Given the description of an element on the screen output the (x, y) to click on. 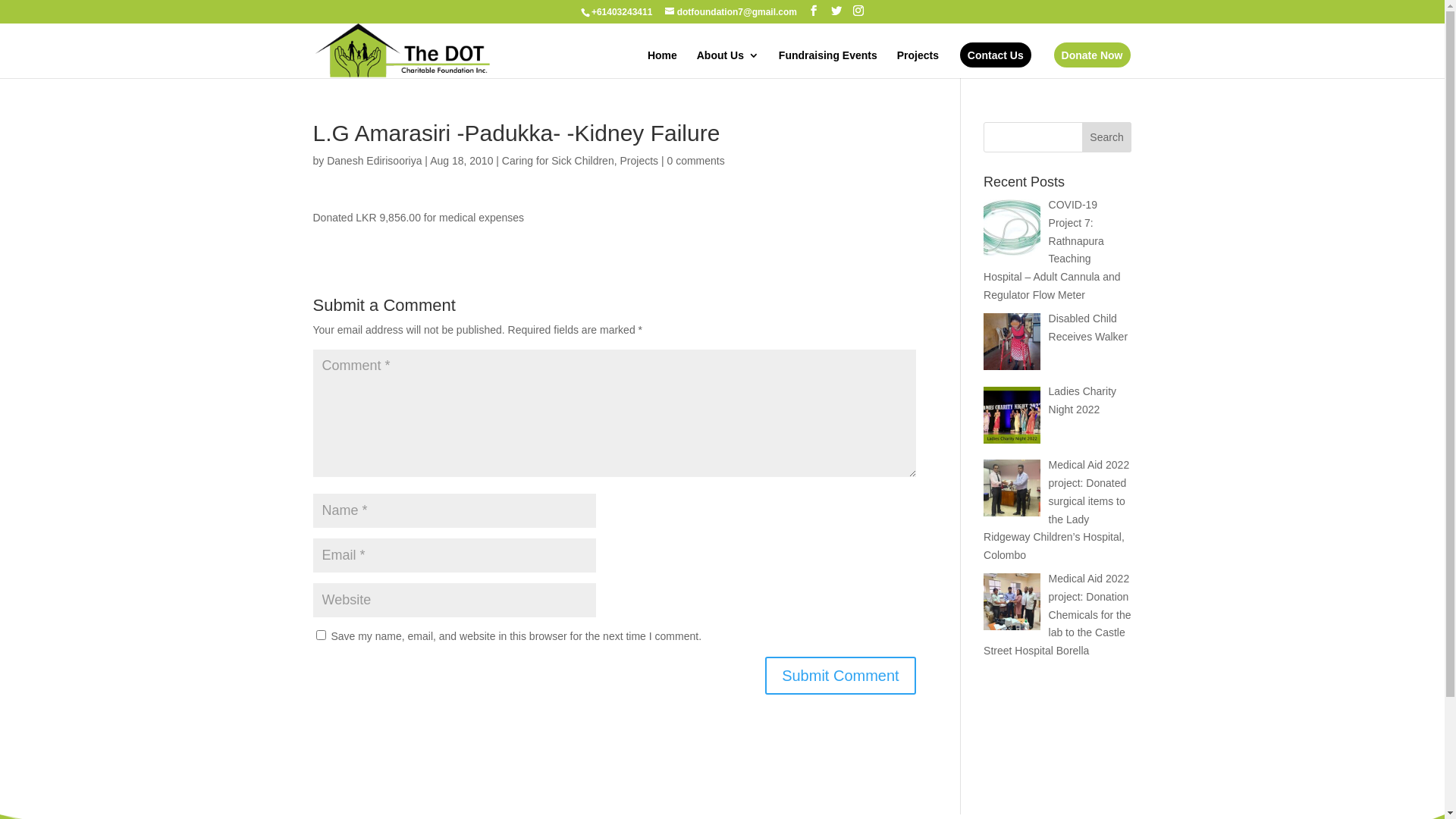
Fundraising Events Element type: text (827, 64)
Donate Now Element type: text (1092, 54)
Ladies Charity Night 2022 Element type: text (1082, 400)
Danesh Edirisooriya Element type: text (373, 160)
dotfoundation7@gmail.com Element type: text (731, 11)
About Us Element type: text (727, 64)
Disabled Child Receives Walker Element type: text (1088, 327)
Submit Comment Element type: text (840, 675)
Projects Element type: text (917, 64)
Home Element type: text (662, 64)
0 comments Element type: text (695, 160)
Contact Us Element type: text (995, 54)
Caring for Sick Children Element type: text (558, 160)
Projects Element type: text (638, 160)
Search Element type: text (1107, 137)
